Given the description of an element on the screen output the (x, y) to click on. 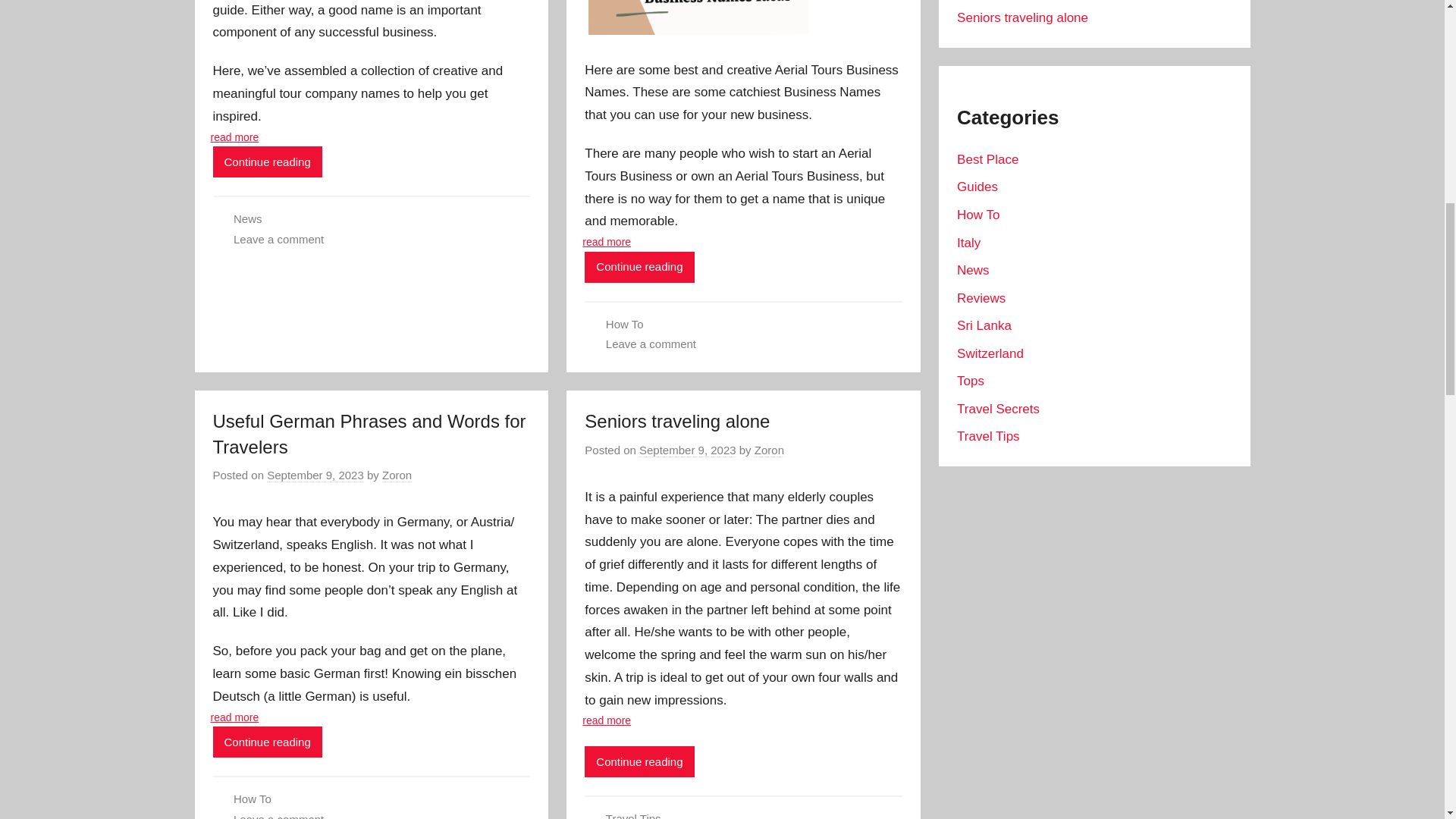
Travel Tips (633, 815)
Useful German Phrases and Words for Travelers (368, 434)
View all posts by Zoron (396, 475)
How To (251, 798)
read more (234, 717)
Continue reading (266, 741)
Leave a comment (650, 343)
September 9, 2023 (315, 475)
Seniors traveling alone (677, 421)
Continue reading (266, 161)
September 9, 2023 (687, 450)
Zoron (769, 450)
read more (234, 137)
Continue reading (639, 761)
Zoron (396, 475)
